Given the description of an element on the screen output the (x, y) to click on. 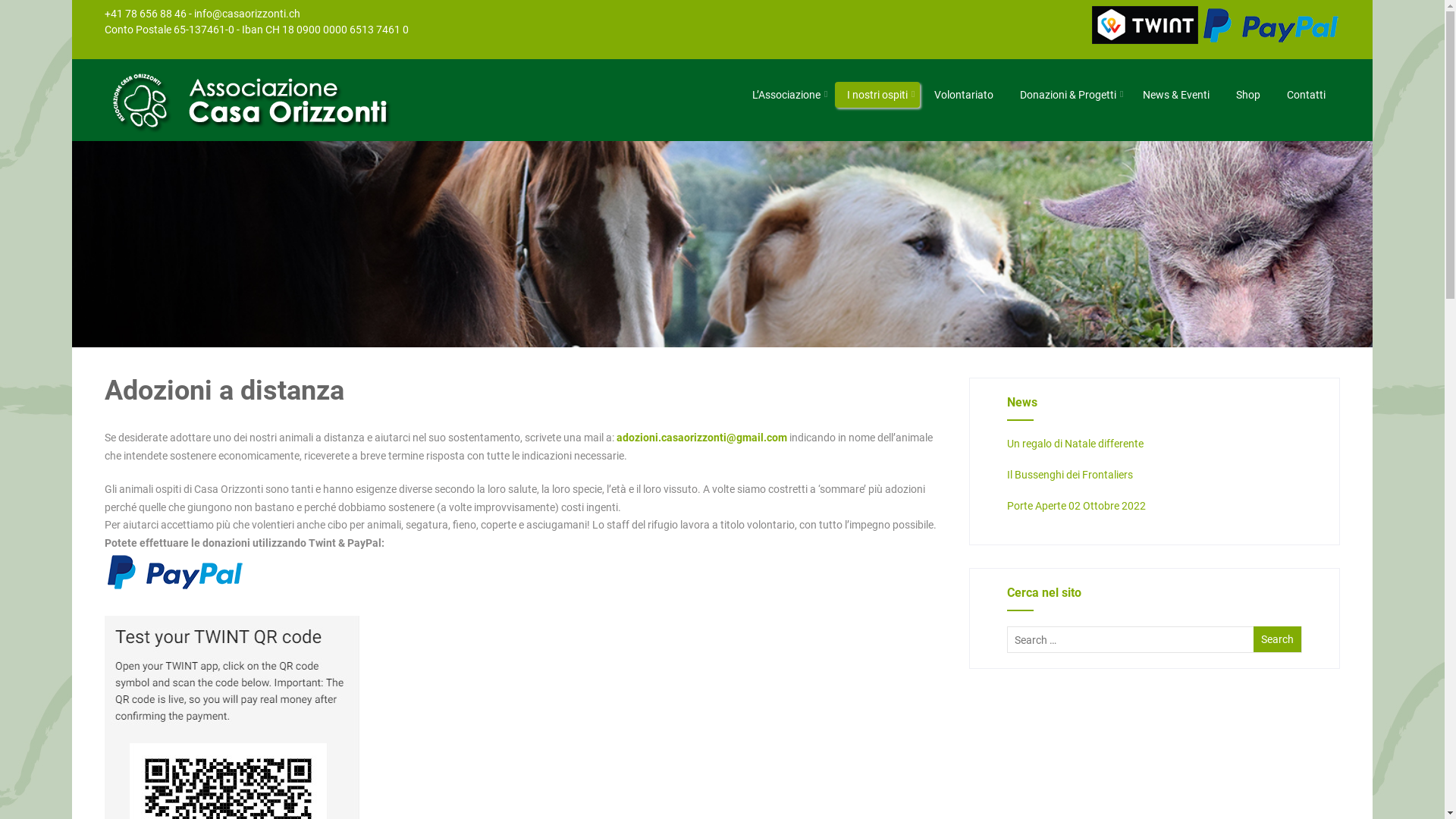
Porte Aperte 02 Ottobre 2022 Element type: text (1076, 505)
Volontariato Element type: text (963, 94)
Donazioni & Progetti Element type: text (1067, 94)
- info@casaorizzonti.ch Element type: text (244, 13)
Un regalo di Natale differente Element type: text (1075, 443)
adozioni.casaorizzonti@gmail.com Element type: text (701, 437)
Il Bussenghi dei Frontaliers Element type: text (1069, 474)
Contatti Element type: text (1305, 94)
Shop Element type: text (1247, 94)
I nostri ospiti Element type: text (876, 94)
News & Eventi Element type: text (1175, 94)
Search Element type: text (1277, 639)
Casa Orizzonti Element type: hover (265, 132)
